Given the description of an element on the screen output the (x, y) to click on. 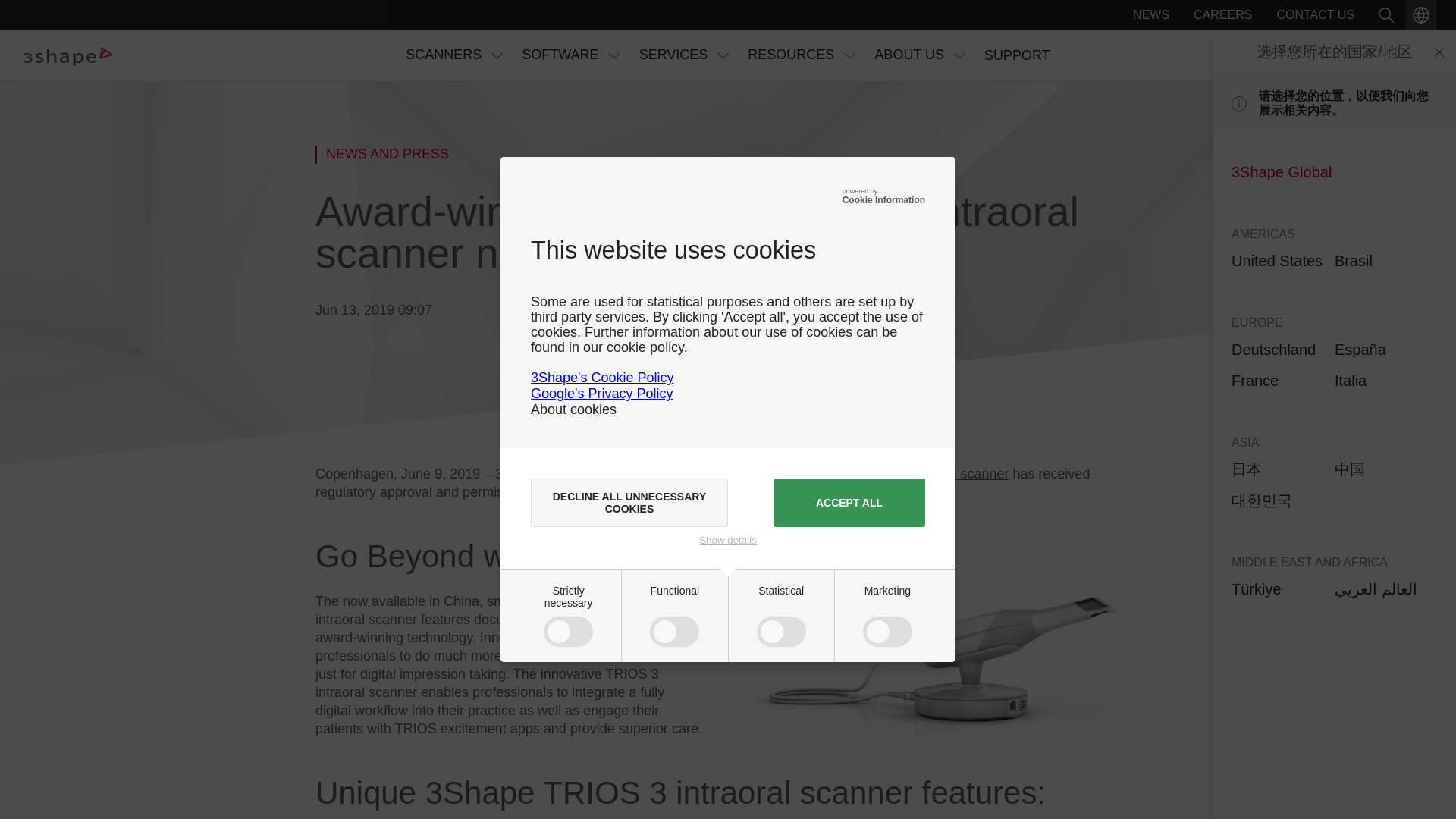
Cookie Information (883, 199)
3Shape's Cookie Policy (602, 377)
ACCEPT ALL (848, 502)
Show details (727, 540)
DECLINE ALL UNNECESSARY COOKIES (629, 502)
About cookies (573, 409)
Google's Privacy Policy (601, 393)
